Given the description of an element on the screen output the (x, y) to click on. 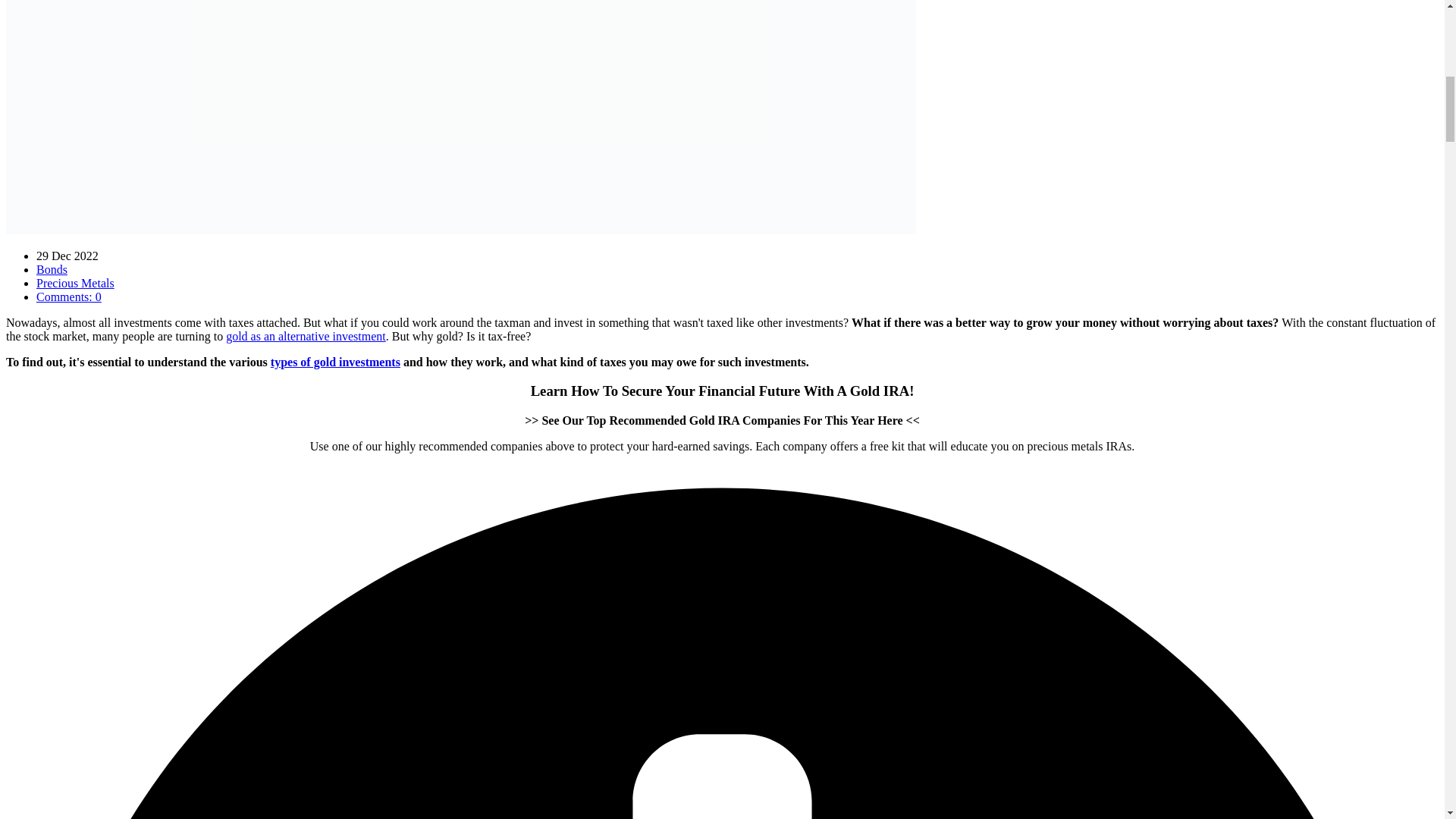
types of gold investments (335, 361)
Precious Metals (75, 282)
gold as an alternative investment (305, 336)
Comments: 0 (68, 296)
Bonds (51, 269)
